Given the description of an element on the screen output the (x, y) to click on. 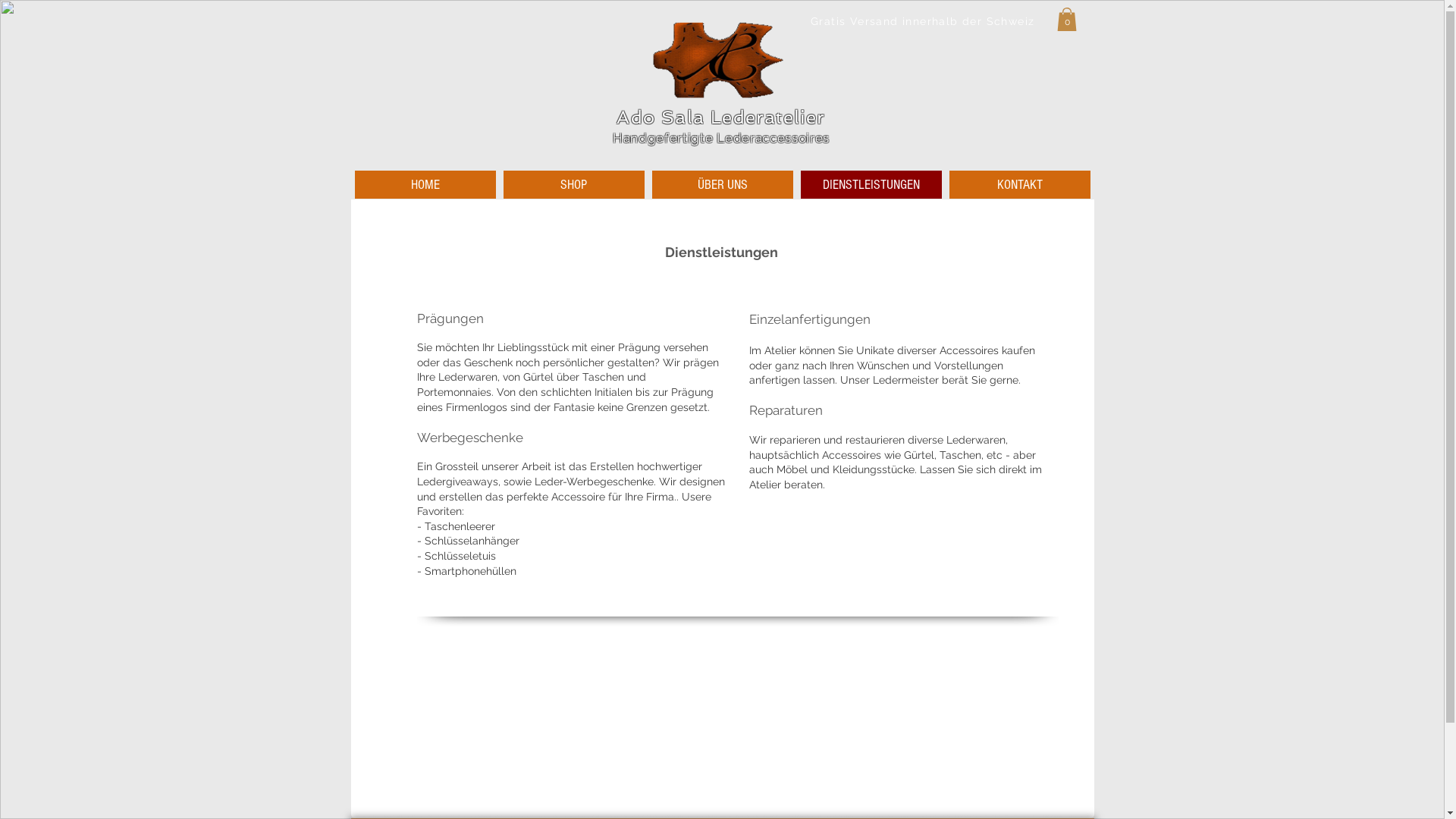
Handgefertigte Lederaccessoires Element type: text (720, 137)
DIENSTLEISTUNGEN Element type: text (870, 184)
KONTAKT Element type: text (1019, 184)
SHOP Element type: text (573, 184)
HOME Element type: text (424, 184)
0 Element type: text (1066, 19)
Ado Sala Lederatelier Element type: text (720, 117)
